Given the description of an element on the screen output the (x, y) to click on. 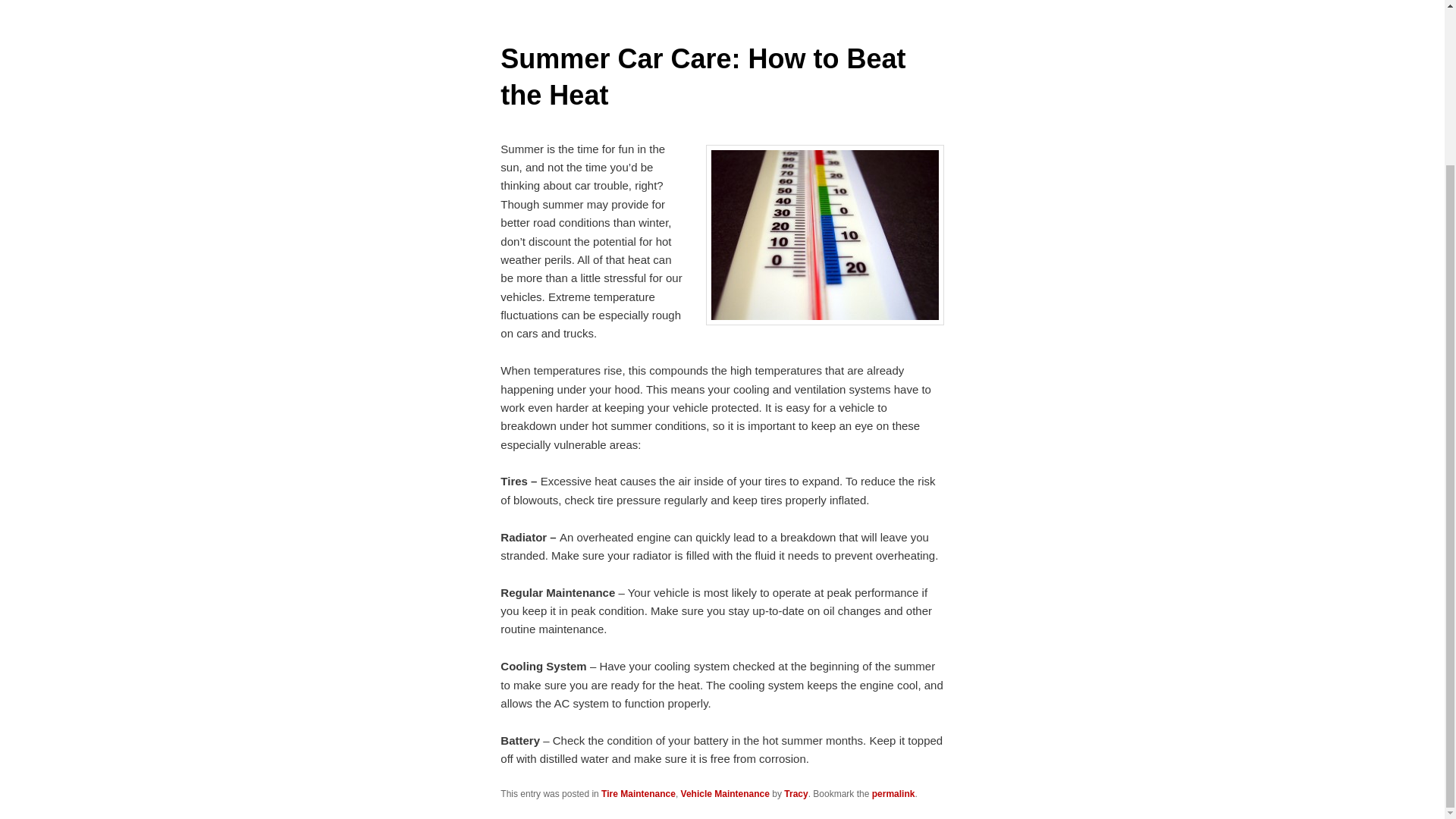
permalink (893, 793)
Permalink to Summer Car Care: How to Beat the Heat (893, 793)
thermometer (824, 234)
Tire Maintenance (638, 793)
Vehicle Maintenance (725, 793)
Tracy (796, 793)
